Given the description of an element on the screen output the (x, y) to click on. 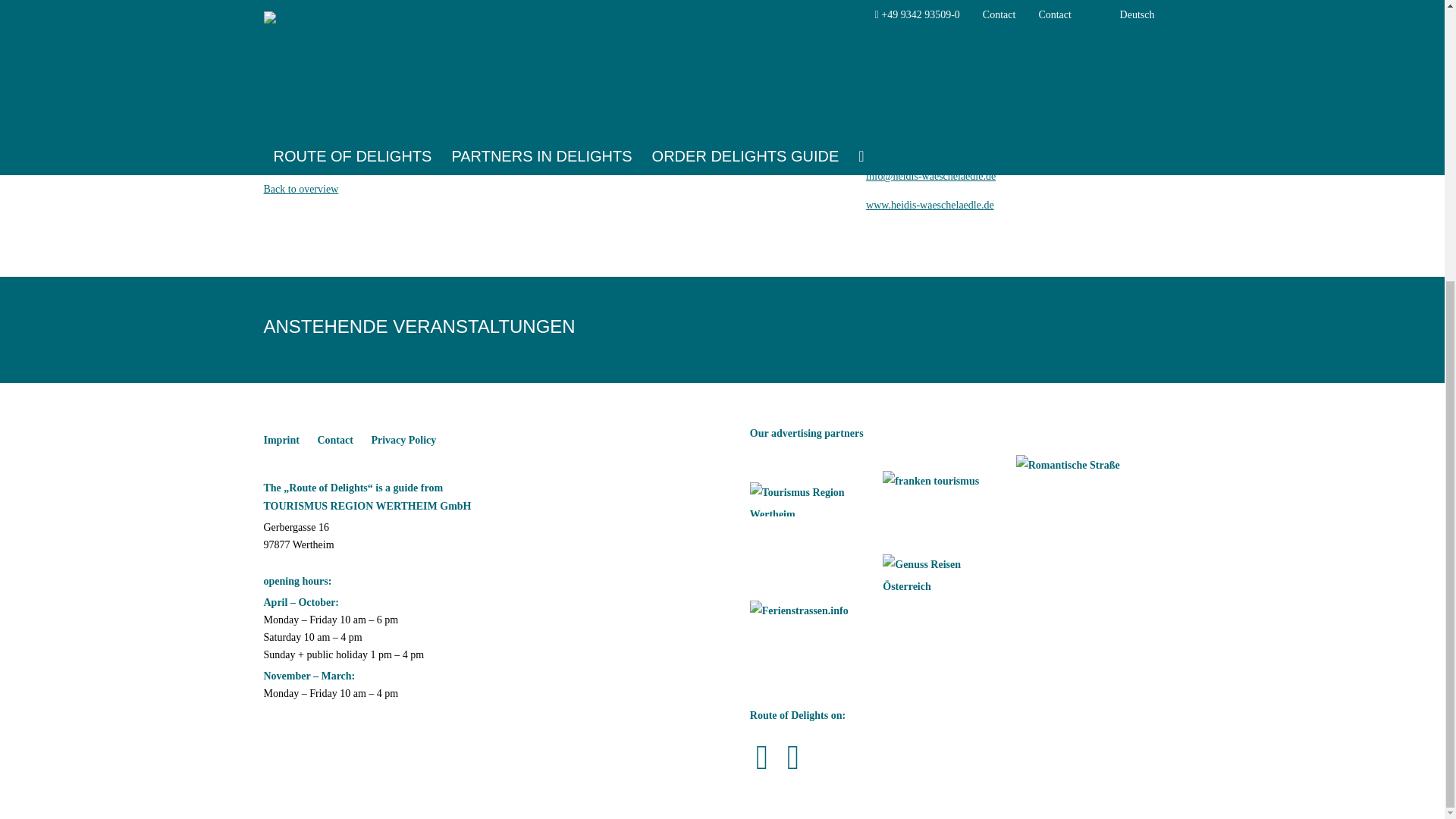
facebook (761, 757)
Privacy Policy (403, 440)
www.heidis-waeschelaedle.de (949, 205)
Contact (334, 440)
instagram (792, 757)
Back to overview (320, 189)
To route section 3 (320, 143)
Imprint (281, 440)
